Given the description of an element on the screen output the (x, y) to click on. 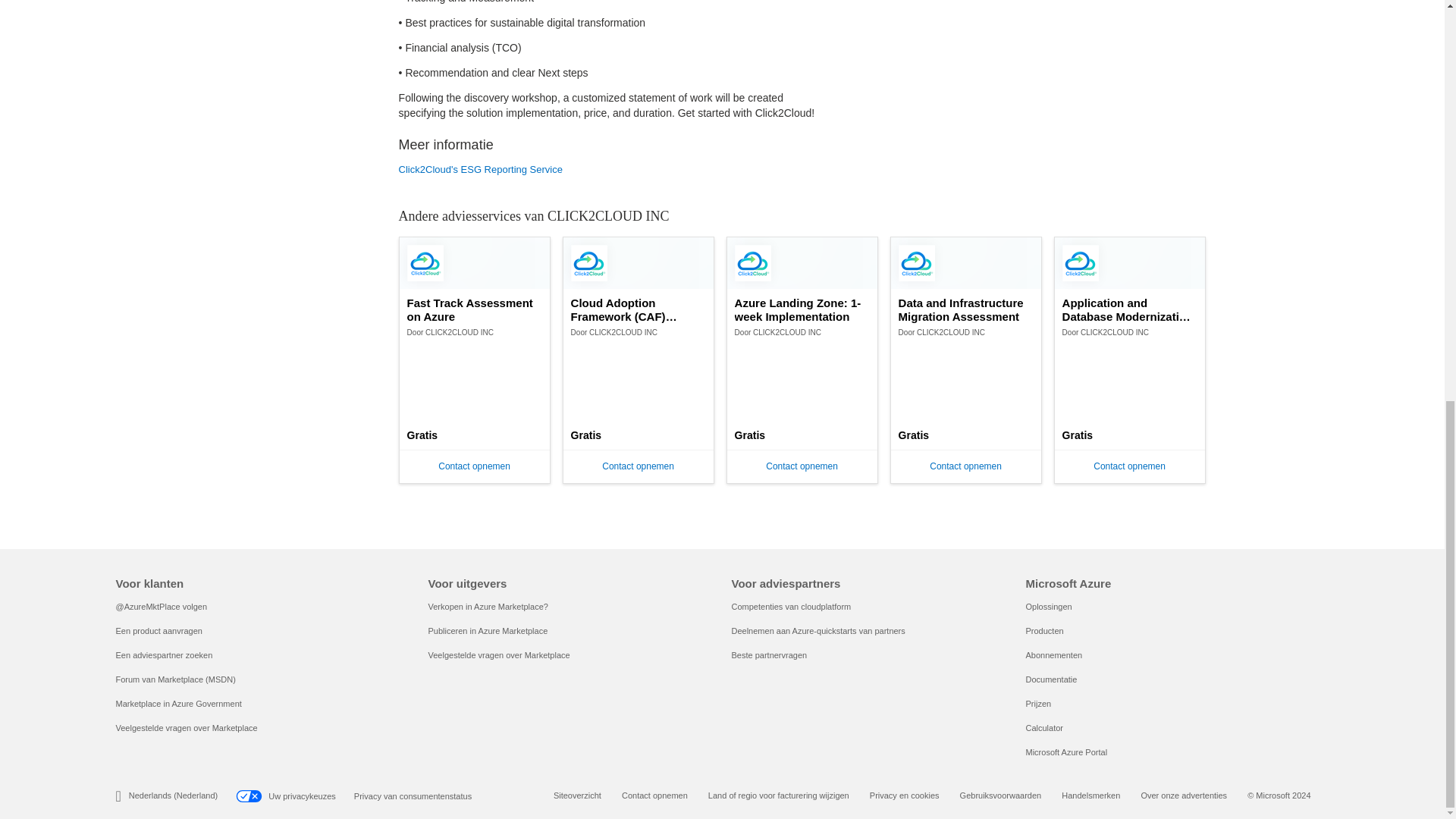
Data and Infrastructure Migration Assessment (965, 309)
Fast Track Assessment on Azure (474, 309)
Azure Landing Zone: 1- week Implementation (802, 309)
Application and Database Modernization Assessment (1129, 309)
